Given the description of an element on the screen output the (x, y) to click on. 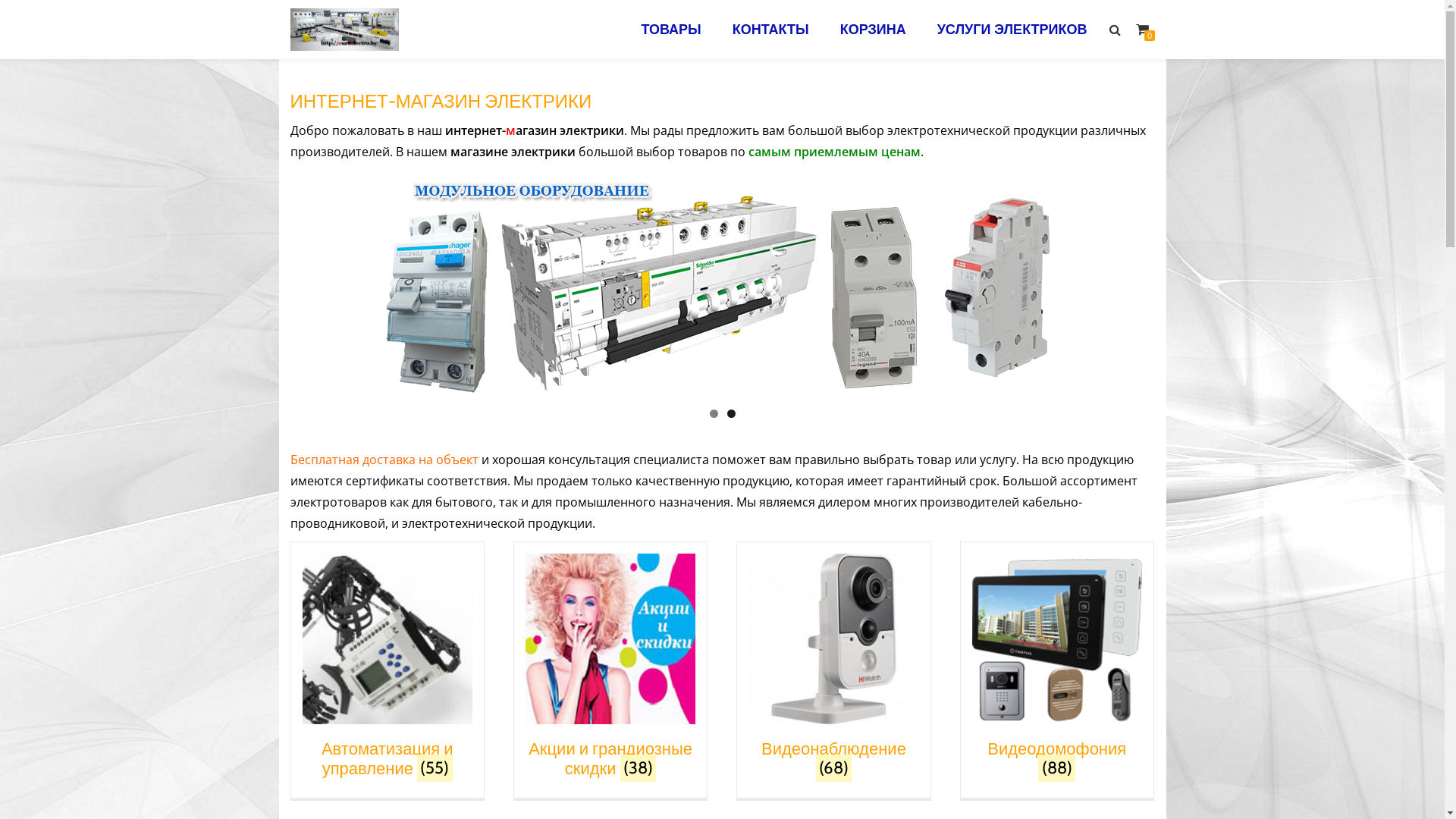
0 Element type: text (1141, 29)
modul-oborud Element type: hover (721, 283)
2 Element type: text (730, 413)
1 Element type: text (713, 413)
